Given the description of an element on the screen output the (x, y) to click on. 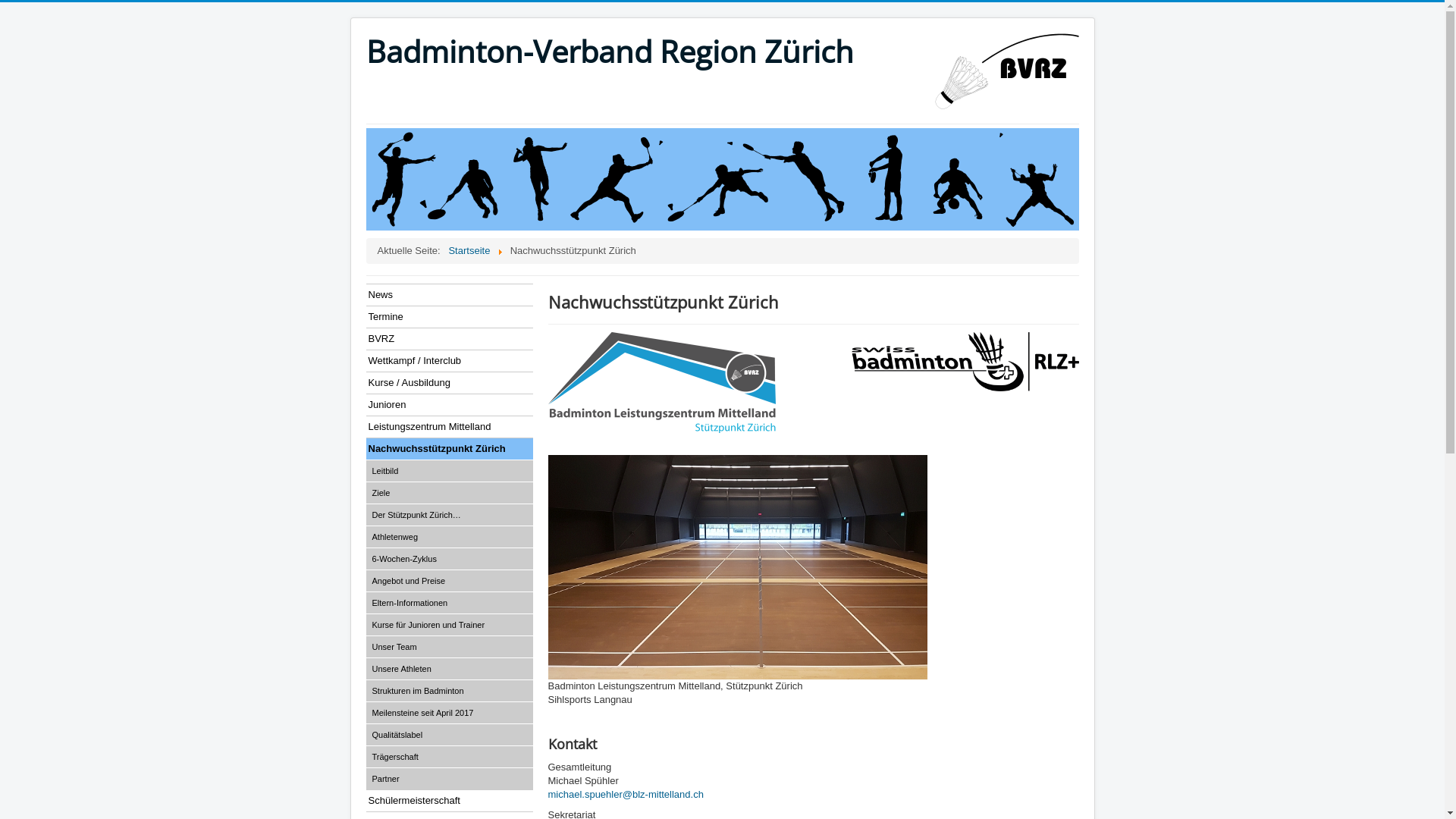
BVRZ Element type: text (448, 338)
Angebot und Preise Element type: text (448, 580)
Leitbild Element type: text (448, 470)
Kurse / Ausbildung Element type: text (448, 382)
Eltern-Informationen Element type: text (448, 602)
michael.spuehler@blz-mittelland.ch Element type: text (624, 794)
Junioren Element type: text (448, 404)
6-Wochen-Zyklus Element type: text (448, 558)
Label RLZ+ Element type: hover (964, 361)
Unsere Athleten Element type: text (448, 668)
Leistungszentrum Mittelland Element type: text (448, 426)
Strukturen im Badminton Element type: text (448, 690)
Startseite Element type: text (468, 250)
Meilensteine seit April 2017 Element type: text (448, 712)
Athletenweg Element type: text (448, 536)
Wettkampf / Interclub Element type: text (448, 360)
Termine Element type: text (448, 316)
Partner Element type: text (448, 778)
Unser Team Element type: text (448, 646)
News Element type: text (448, 294)
Ziele Element type: text (448, 492)
